Given the description of an element on the screen output the (x, y) to click on. 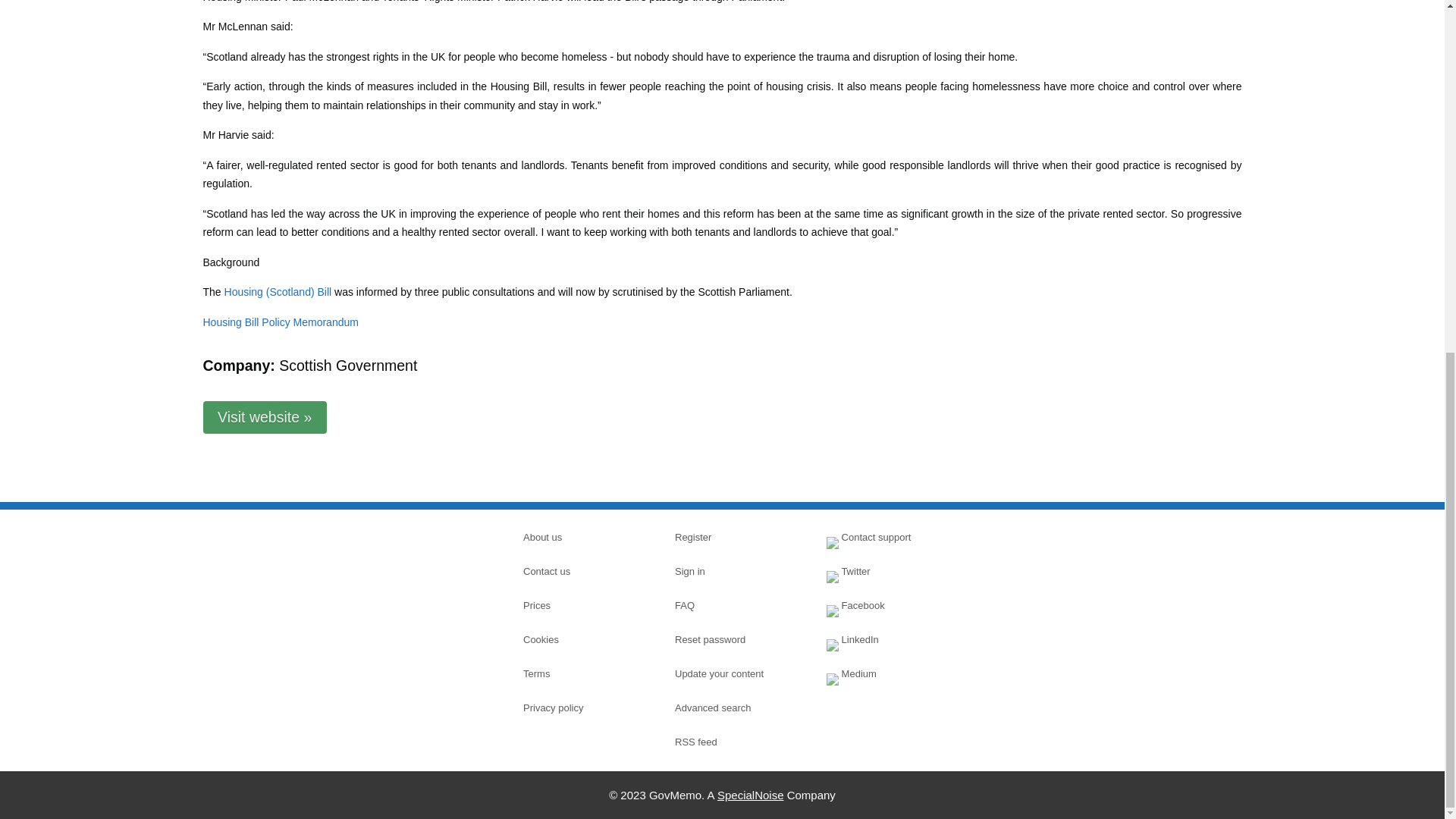
Sign in (727, 571)
Reset password (727, 639)
Cookies (575, 639)
Register (727, 537)
Contact us (575, 571)
Contact support (880, 537)
Privacy policy (575, 707)
FAQ (727, 605)
Terms (575, 673)
Update your content (727, 673)
